Given the description of an element on the screen output the (x, y) to click on. 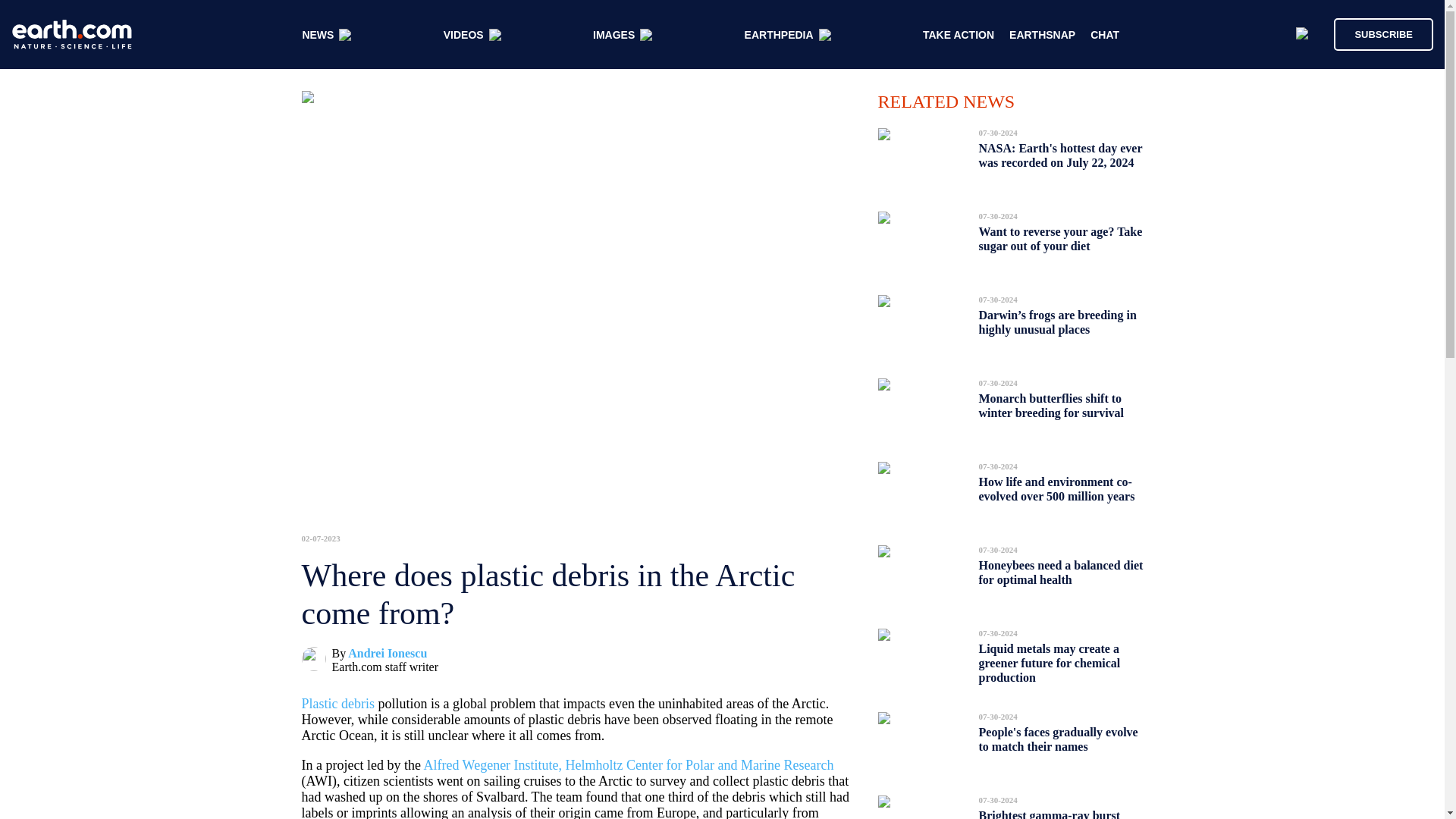
Want to reverse your age? Take sugar out of your diet  (1059, 238)
Monarch butterflies shift to winter breeding for survival (1051, 405)
How life and environment co-evolved over 500 million years (1056, 488)
SUBSCRIBE (1382, 34)
CHAT (1104, 34)
TAKE ACTION (958, 34)
People's faces gradually evolve to match their names (1057, 739)
Honeybees need a balanced diet for optimal health (1060, 572)
Plastic debris (338, 703)
Andrei Ionescu (386, 653)
SUBSCRIBE (1375, 33)
NASA: Earth's hottest day ever was recorded on July 22, 2024 (1059, 155)
